Given the description of an element on the screen output the (x, y) to click on. 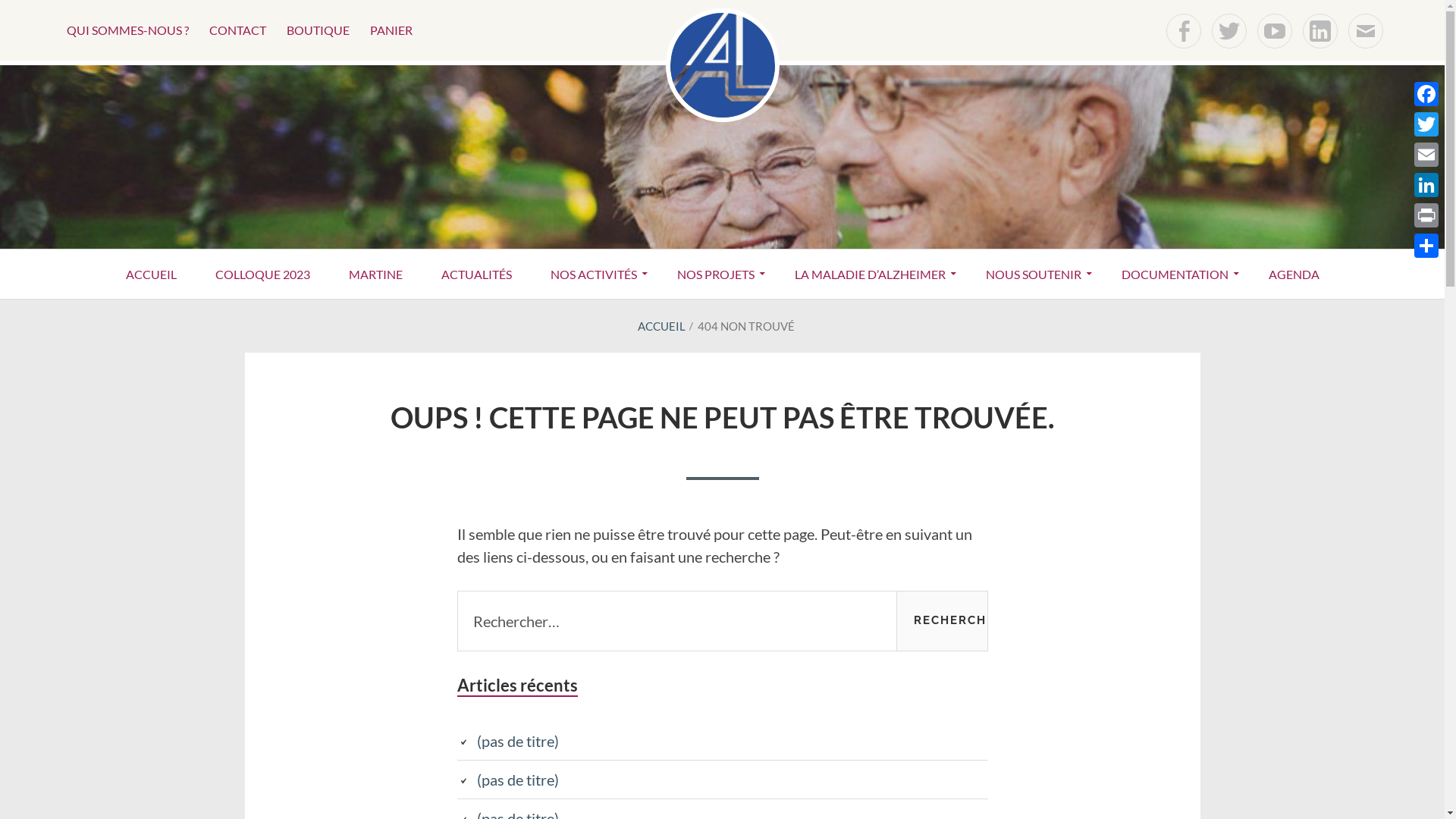
Facebook Element type: text (1426, 93)
LinkedIn Element type: text (1426, 184)
LIGUE ALZHEIMER ASBL Element type: text (404, 233)
Rechercher Element type: text (941, 620)
ACCUEIL Element type: text (150, 273)
E-mail Element type: text (1365, 30)
Twitter Element type: text (1228, 30)
(pas de titre) Element type: text (517, 740)
BOUTIQUE Element type: text (317, 30)
COLLOQUE 2023 Element type: text (262, 273)
Print Element type: text (1426, 215)
PANIER Element type: text (390, 30)
NOS PROJETS Element type: text (715, 273)
MARTINE Element type: text (375, 273)
Partager Element type: text (1426, 245)
Twitter Element type: text (1426, 124)
NOUS SOUTENIR Element type: text (1034, 273)
ACCUEIL Element type: text (661, 325)
CONTACT Element type: text (237, 30)
QUI SOMMES-NOUS ? Element type: text (127, 30)
YouTube Element type: text (1274, 30)
(pas de titre) Element type: text (517, 779)
AGENDA Element type: text (1292, 273)
DOCUMENTATION Element type: text (1174, 273)
Facebook Element type: text (1183, 30)
Email Element type: text (1426, 154)
LinkedIn Element type: text (1319, 30)
